Given the description of an element on the screen output the (x, y) to click on. 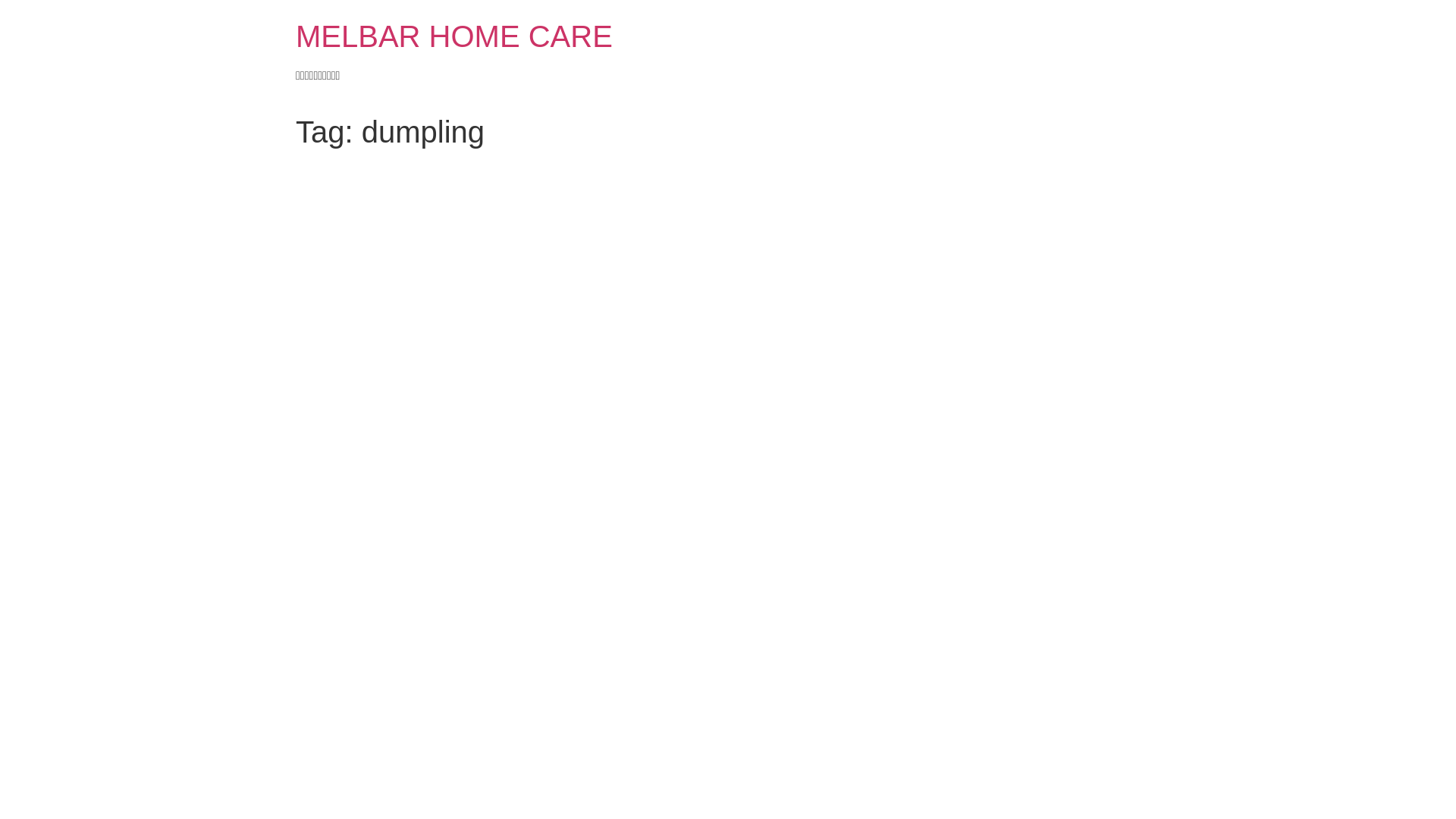
MELBAR HOME CARE Element type: text (453, 36)
